Given the description of an element on the screen output the (x, y) to click on. 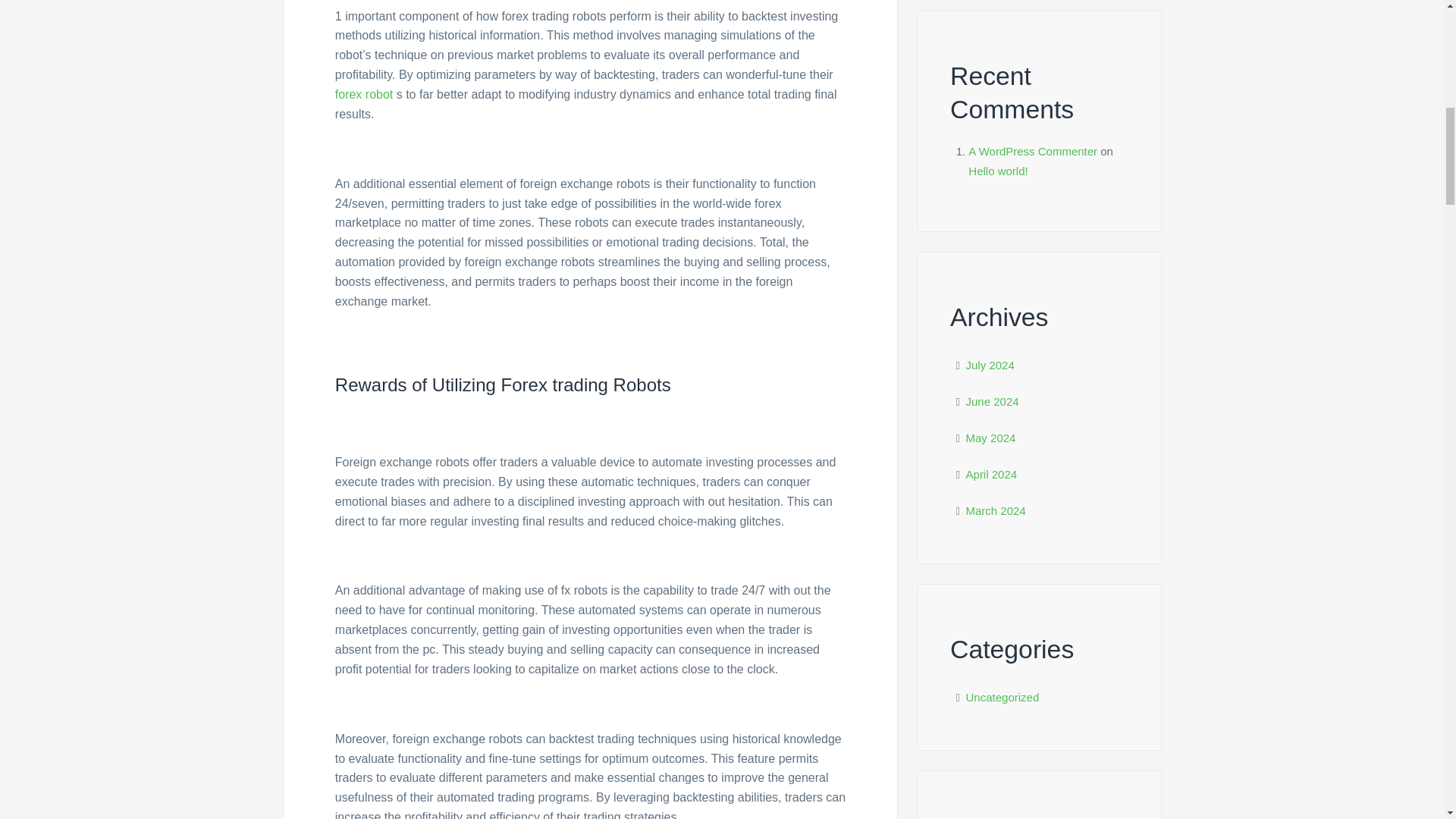
July 2024 (990, 364)
Uncategorized (1002, 697)
April 2024 (991, 473)
May 2024 (991, 437)
forex robot (363, 93)
new member 100 (994, 818)
June 2024 (992, 400)
March 2024 (996, 510)
Hello world! (997, 170)
A WordPress Commenter (1032, 151)
